Given the description of an element on the screen output the (x, y) to click on. 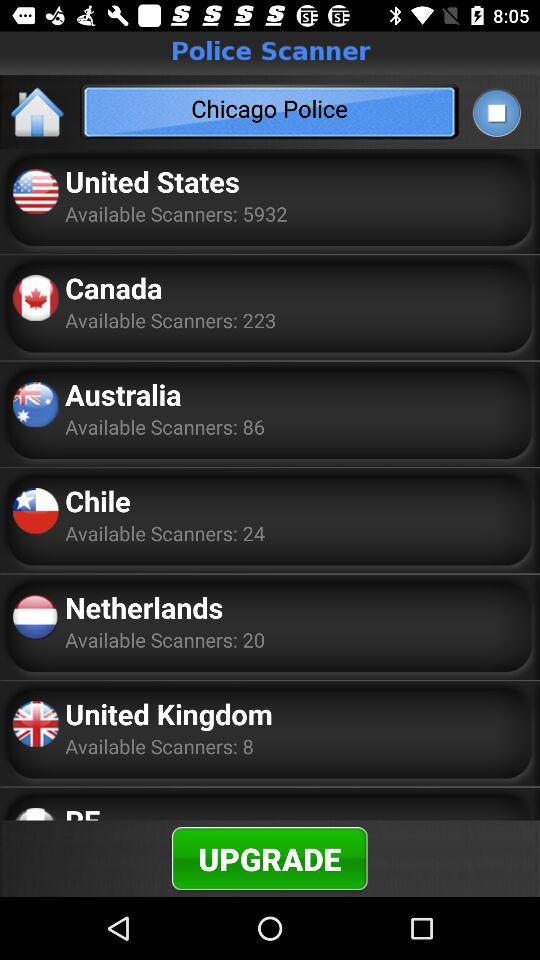
home button (38, 111)
